Given the description of an element on the screen output the (x, y) to click on. 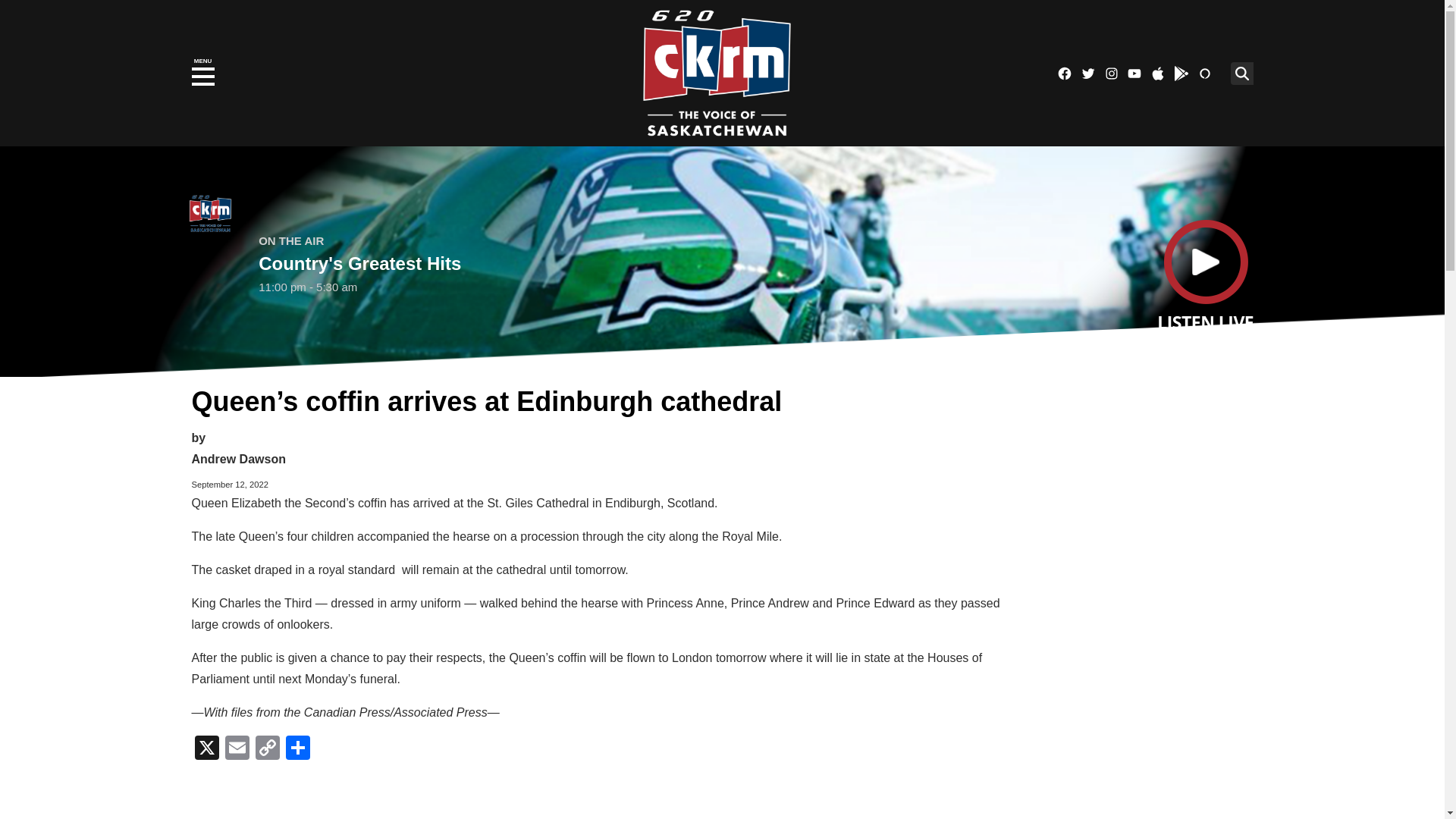
Email (236, 749)
3rd party ad content (1135, 471)
X (205, 749)
Copy Link (266, 749)
3rd party ad content (1135, 708)
